Given the description of an element on the screen output the (x, y) to click on. 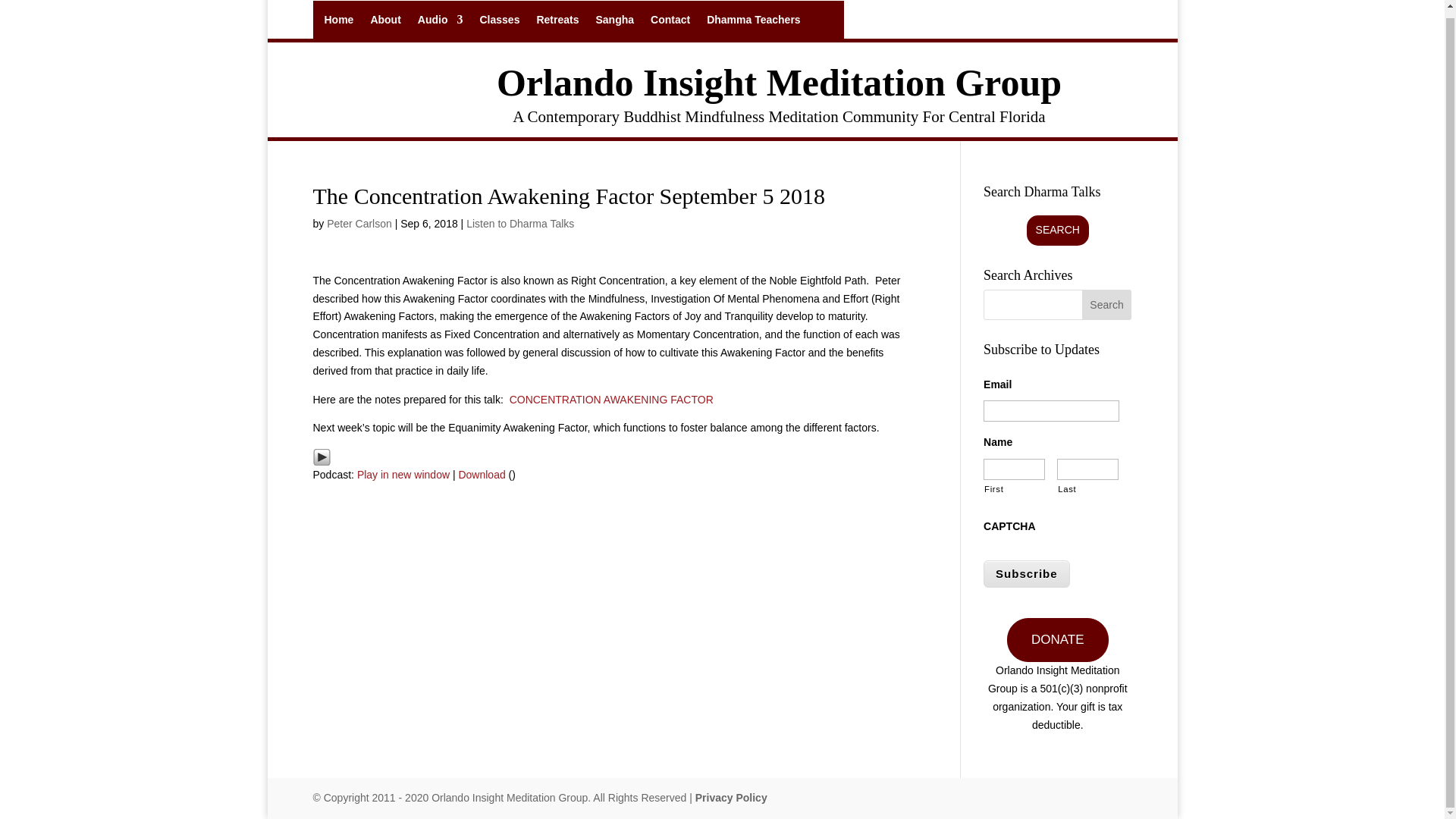
Sangha (614, 22)
About (384, 22)
Play (321, 456)
Search (1106, 304)
Retreats (556, 22)
Download (481, 474)
Home (338, 22)
Play in new window (402, 474)
Audio (440, 22)
Dhamma Teachers (752, 22)
Subscribe (1027, 574)
Peter Carlson (358, 223)
Posts by Peter Carlson (358, 223)
Classes (499, 22)
Play (321, 456)
